Given the description of an element on the screen output the (x, y) to click on. 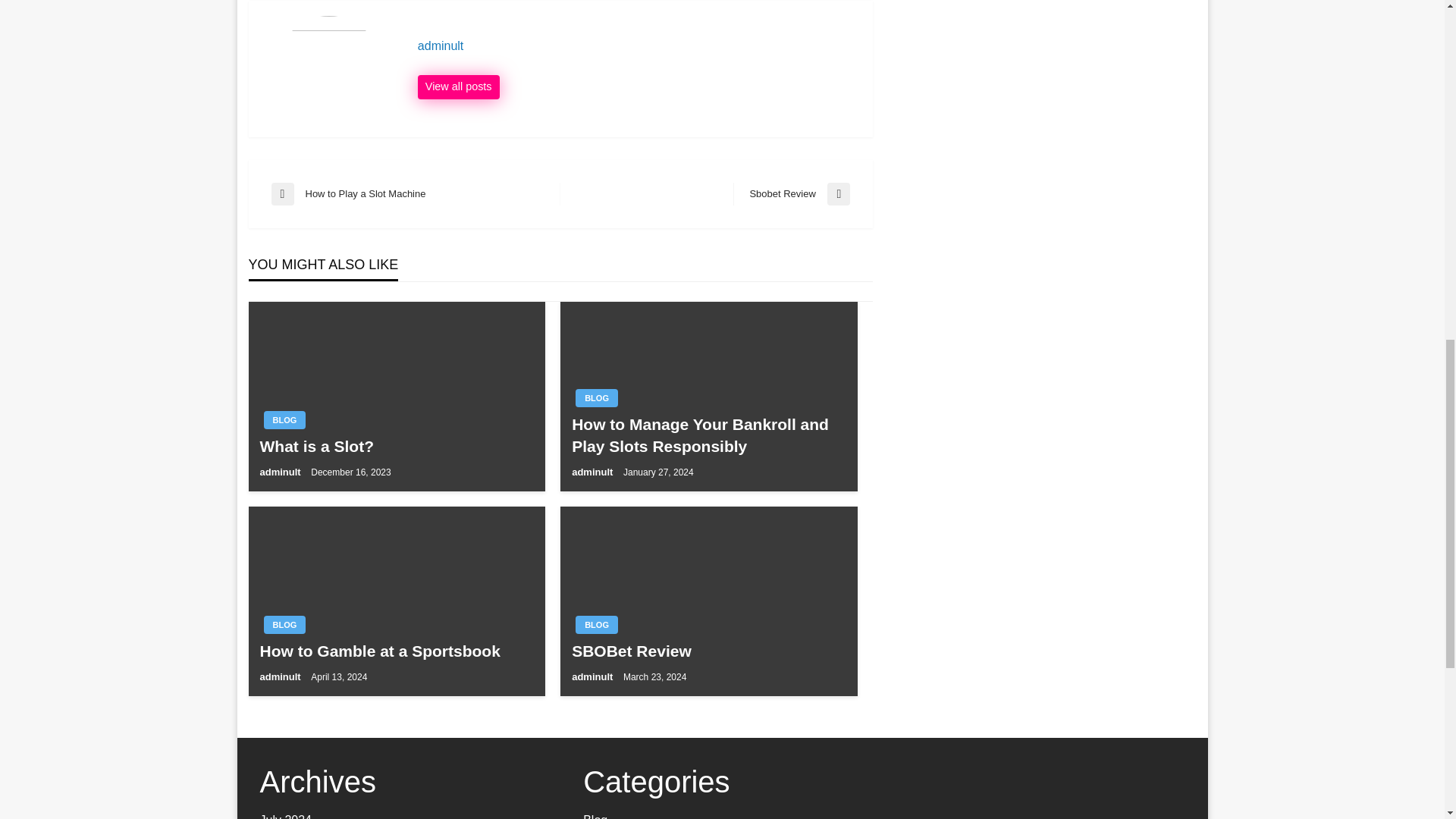
adminult (637, 46)
July 2024 (285, 816)
adminult (593, 676)
BLOG (596, 624)
adminult (280, 676)
How to Gamble at a Sportsbook (396, 650)
SBOBet Review (708, 650)
BLOG (415, 193)
adminult (284, 420)
BLOG (458, 87)
BLOG (596, 398)
adminult (284, 624)
How to Manage Your Bankroll and Play Slots Responsibly (280, 471)
